Given the description of an element on the screen output the (x, y) to click on. 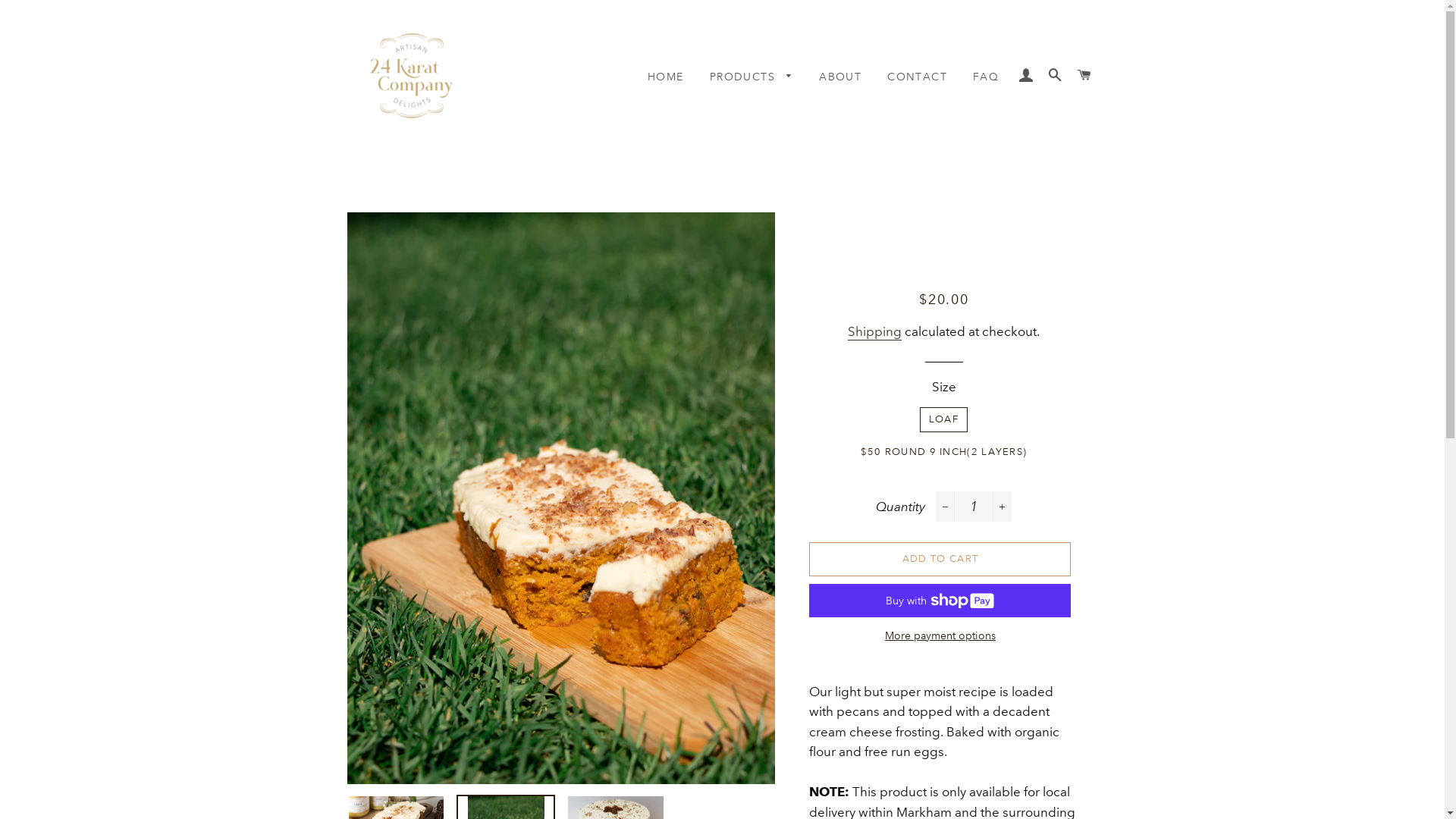
FAQ Element type: text (985, 77)
SEARCH Element type: text (1055, 75)
ABOUT Element type: text (839, 77)
PRODUCTS Element type: text (751, 77)
CONTACT Element type: text (916, 77)
ADD TO CART Element type: text (939, 558)
LOG IN Element type: text (1025, 75)
+ Element type: text (1001, 506)
More payment options Element type: text (939, 635)
Shipping Element type: text (874, 331)
CART Element type: text (1084, 75)
HOME Element type: text (665, 77)
